Given the description of an element on the screen output the (x, y) to click on. 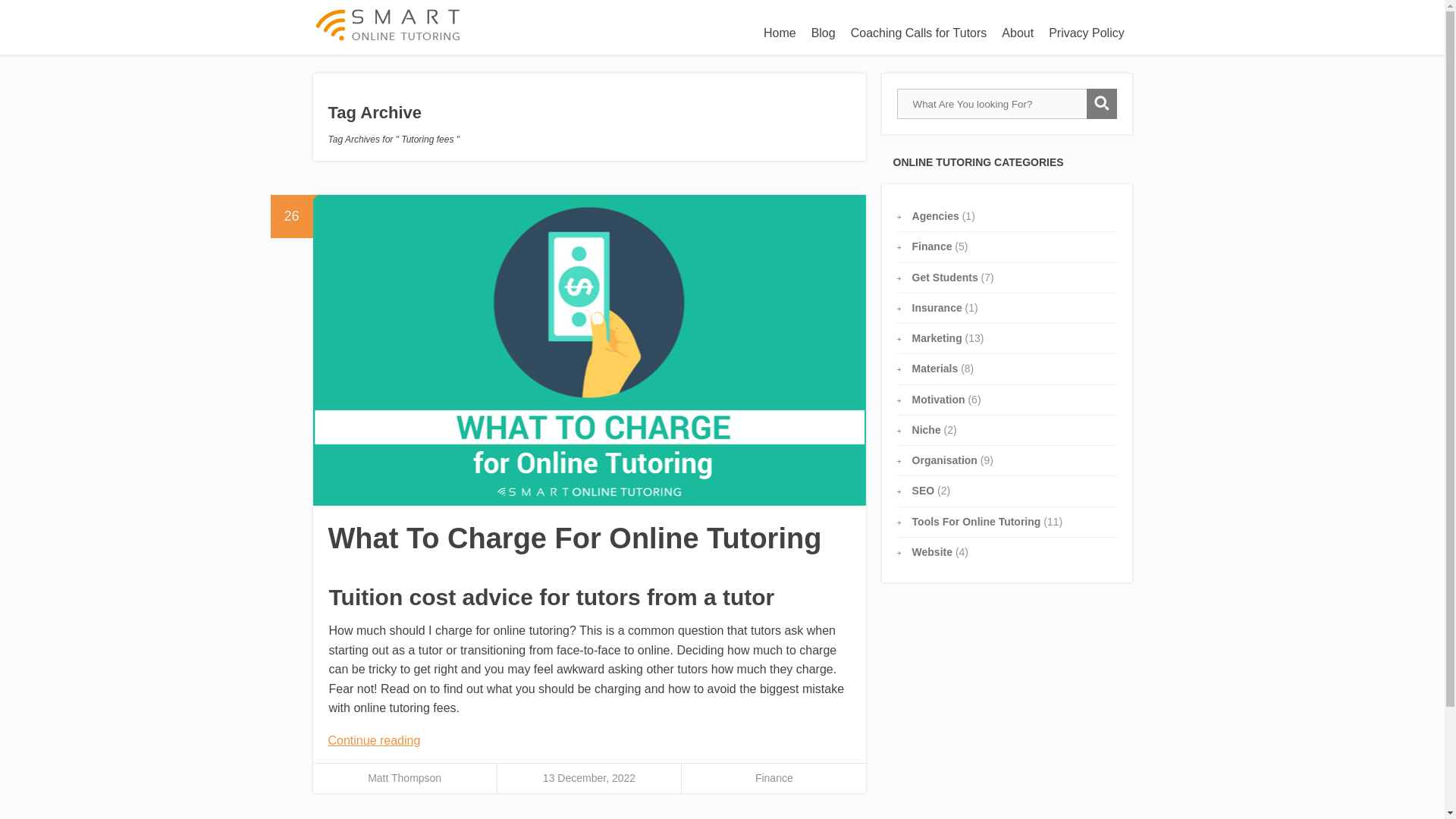
Marketing (937, 337)
Website (932, 551)
Continue reading (373, 739)
Finance (774, 777)
Blog (823, 32)
Insurance (937, 307)
Motivation (938, 398)
26 (291, 216)
Materials (935, 368)
Organisation (944, 460)
